Given the description of an element on the screen output the (x, y) to click on. 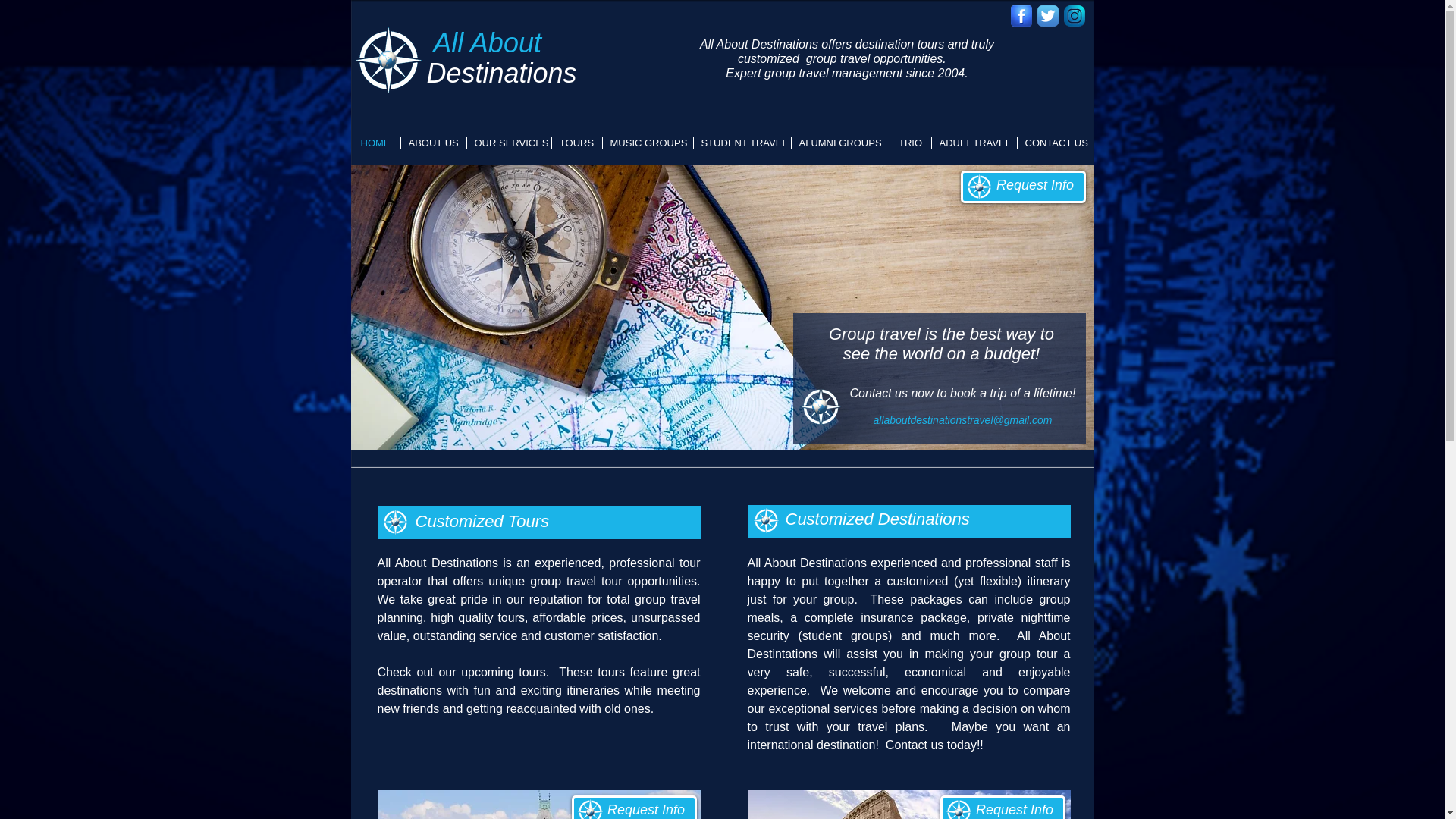
STUDENT TRAVEL (741, 142)
MUSIC GROUPS (647, 142)
OUR SERVICES (509, 142)
Destinations (501, 72)
ALUMNI GROUPS (840, 142)
ABOUT US (432, 142)
All About (486, 42)
HOME (374, 142)
TOURS (576, 142)
